Given the description of an element on the screen output the (x, y) to click on. 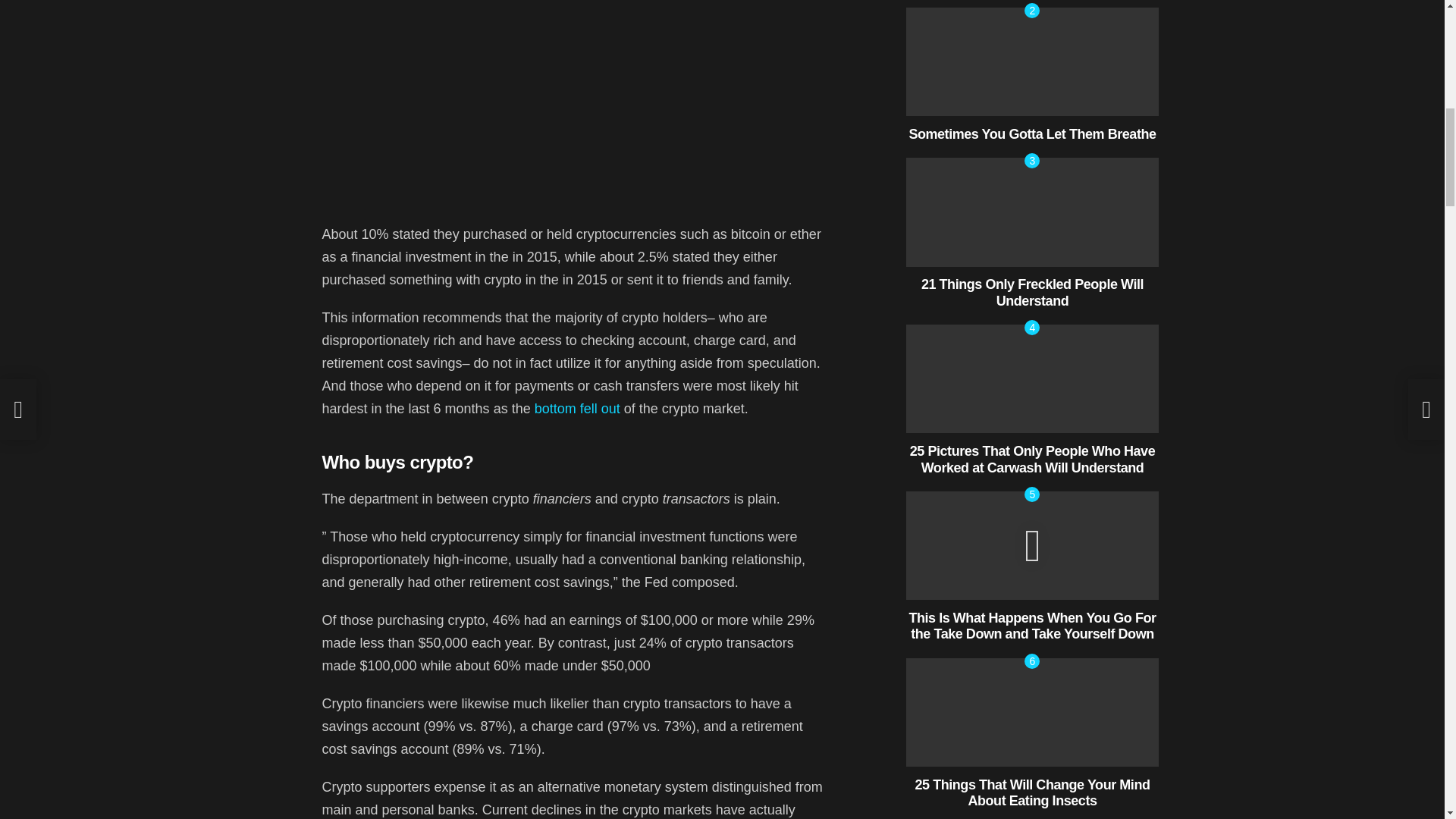
bottom fell out (577, 408)
